Given the description of an element on the screen output the (x, y) to click on. 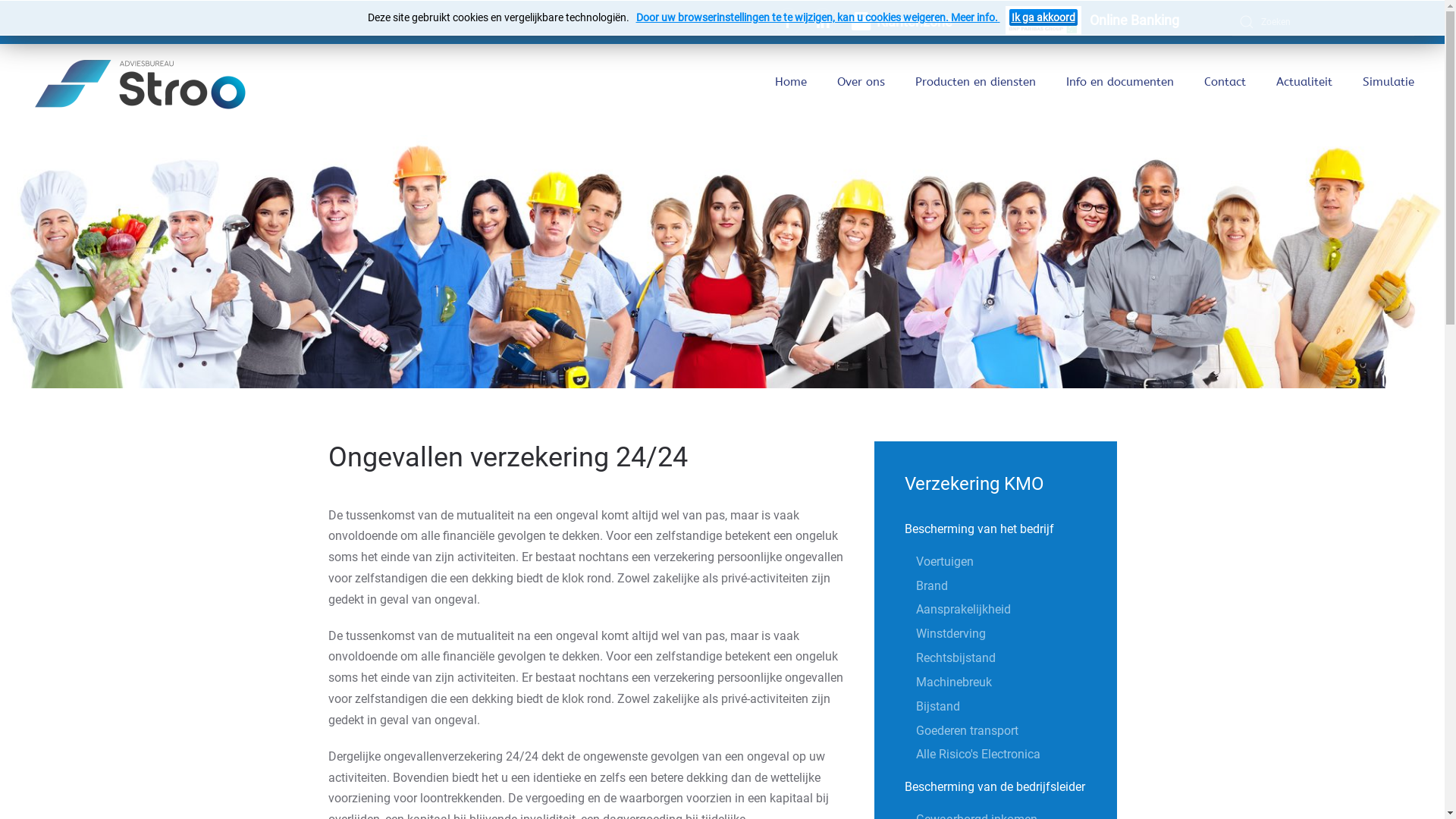
   Online Banking Element type: text (1092, 21)
Ongevallen | Stroo Verzekeringen Brugge Brugge Element type: hover (722, 261)
Klantenzone Element type: text (901, 23)
Contact Element type: text (1224, 81)
Over ons Element type: text (860, 81)
Aansprakelijkheid Element type: text (1016, 609)
Alle Risico's Electronica Element type: text (1016, 754)
Ongevallen | Stroo Verzekeringen Brugge Brugge Element type: hover (1043, 20)
Bijstand Element type: text (1016, 706)
Bescherming van de bedrijfsleider Element type: text (995, 786)
Goederen transport Element type: text (1016, 730)
Bescherming van het bedrijf Element type: text (995, 529)
Machinebreuk Element type: text (1016, 682)
Simulatie Element type: text (1388, 81)
Ongevallen | Stroo Verzekeringen Brugge Brugge Element type: hover (863, 22)
Producten en diensten Element type: text (975, 81)
Brand Element type: text (1016, 586)
Ongevallen | Stroo Verzekeringen Brugge Brugge Element type: hover (143, 81)
Home Element type: text (790, 81)
Info en documenten Element type: text (1119, 81)
Voertuigen Element type: text (1016, 561)
Actualiteit Element type: text (1304, 81)
Rechtsbijstand Element type: text (1016, 658)
Winstderving Element type: text (1016, 633)
